Given the description of an element on the screen output the (x, y) to click on. 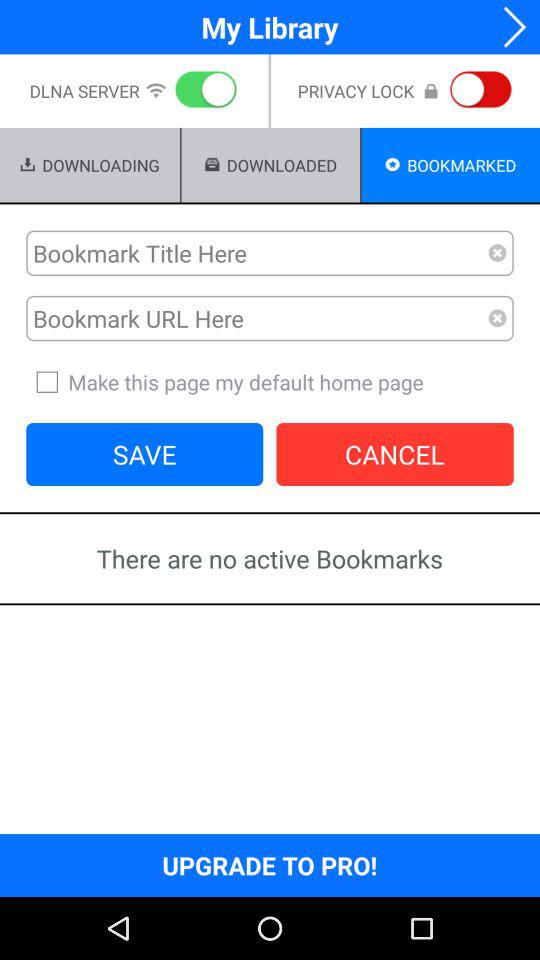
clear bookmark title (497, 253)
